Given the description of an element on the screen output the (x, y) to click on. 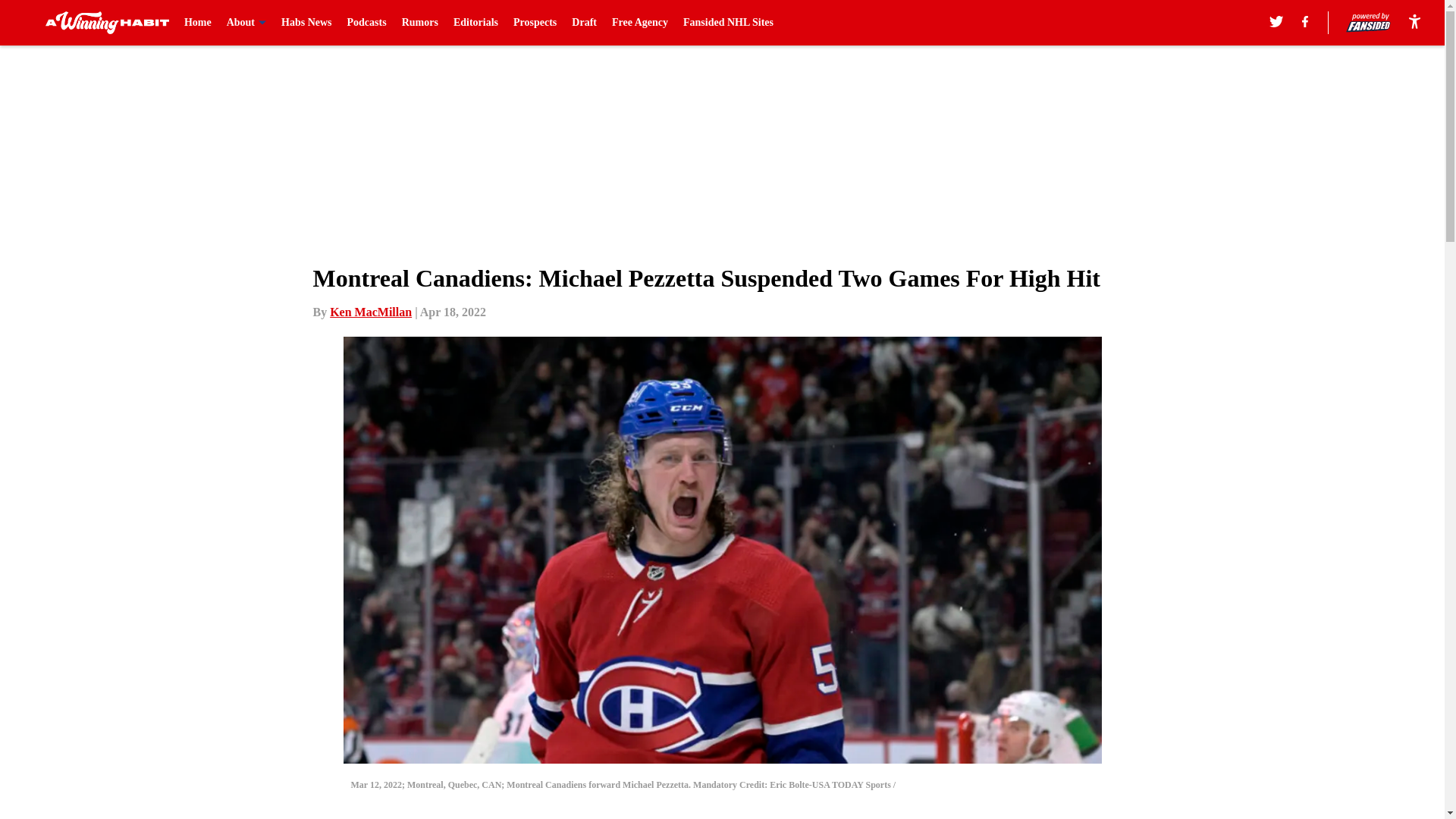
Home (197, 22)
Podcasts (367, 22)
Editorials (474, 22)
Ken MacMillan (371, 311)
Fansided NHL Sites (727, 22)
Habs News (306, 22)
Draft (584, 22)
Rumors (419, 22)
Prospects (534, 22)
